Given the description of an element on the screen output the (x, y) to click on. 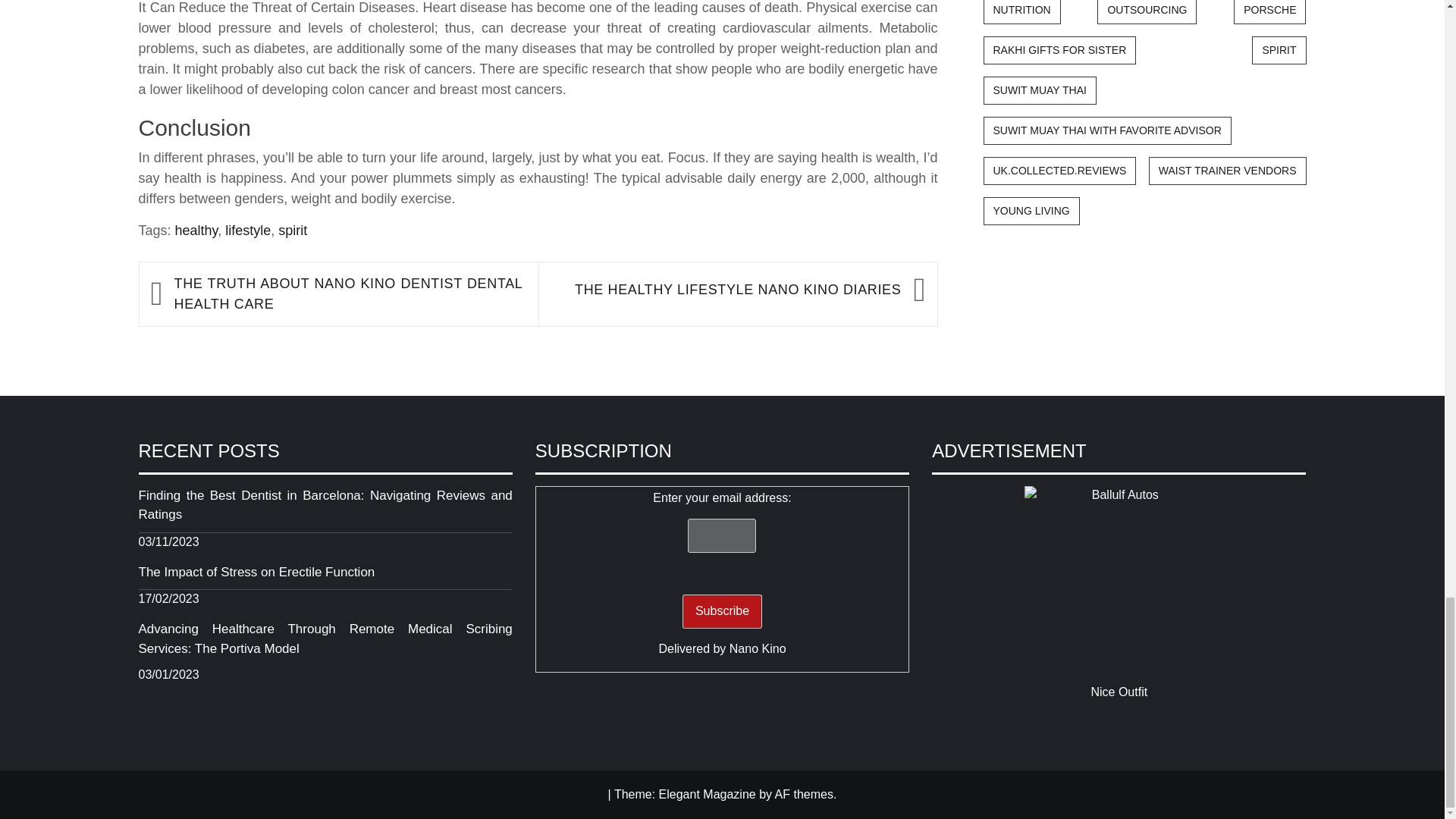
healthy (196, 230)
Subscribe (721, 611)
THE TRUTH ABOUT NANO KINO DENTIST DENTAL HEALTH CARE (348, 293)
spirit (292, 230)
Ballulf Autos (1119, 580)
THE HEALTHY LIFESTYLE NANO KINO DIARIES (726, 290)
lifestyle (247, 230)
